Given the description of an element on the screen output the (x, y) to click on. 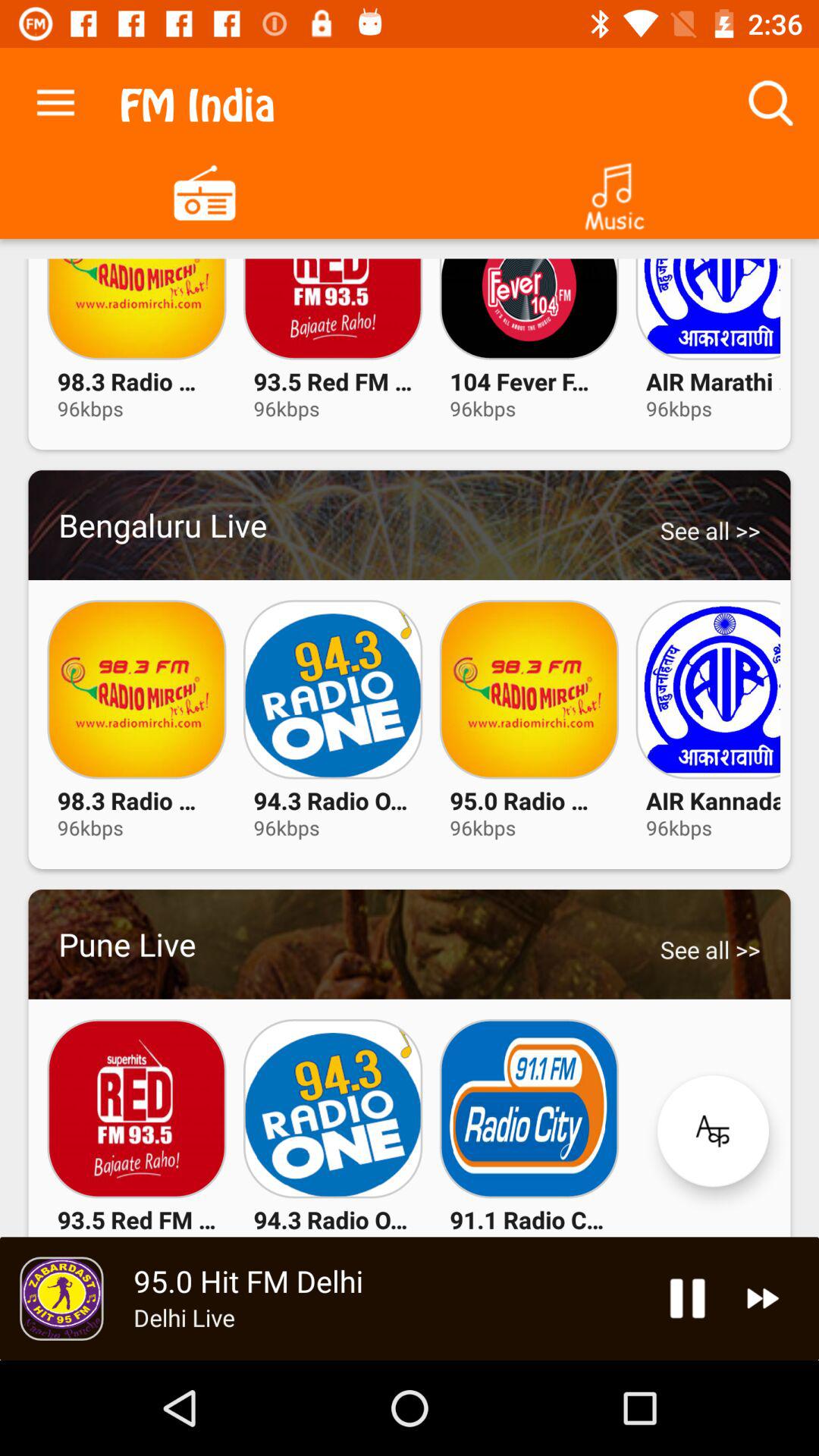
opens fm radio india (204, 190)
